Given the description of an element on the screen output the (x, y) to click on. 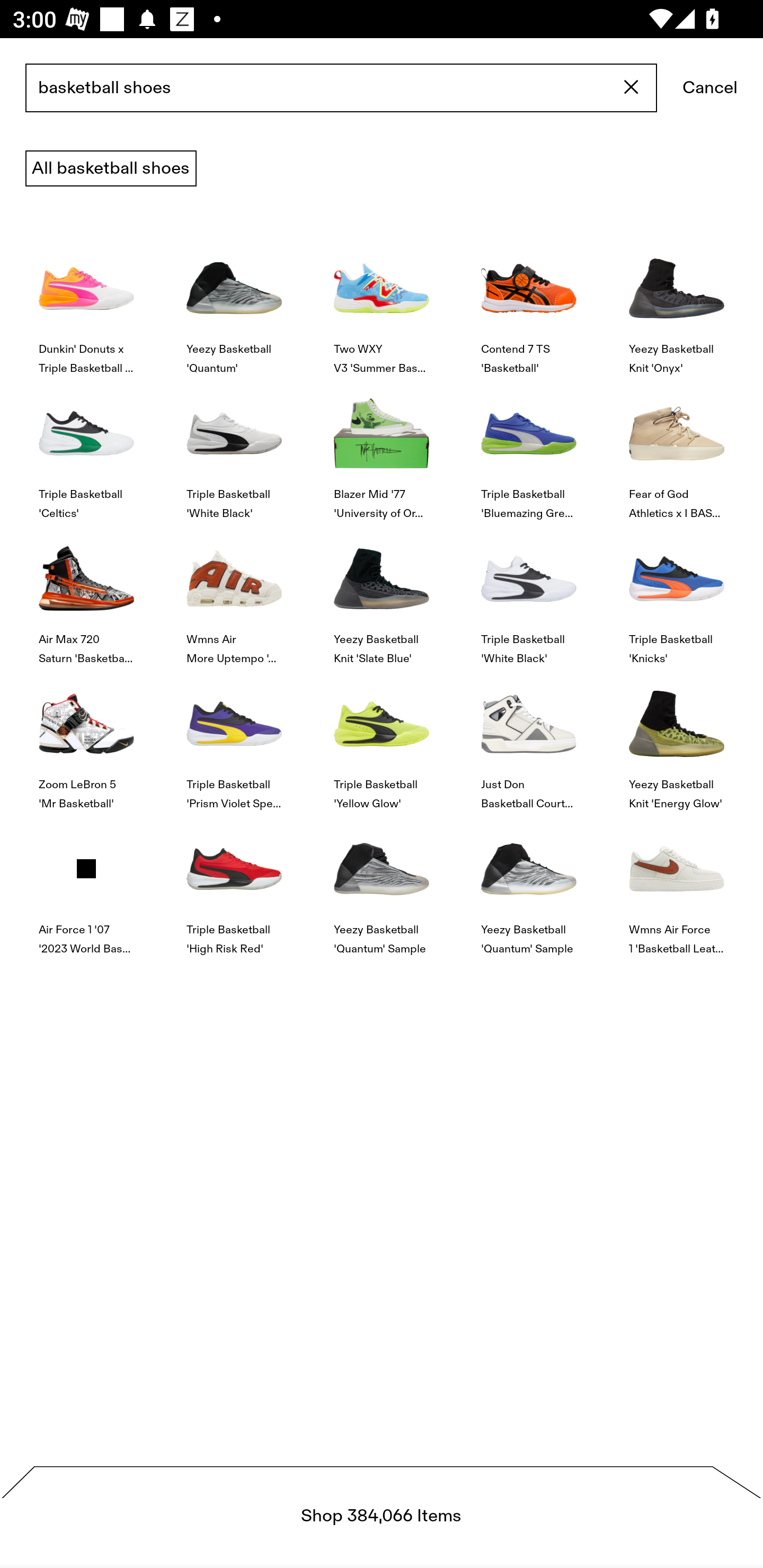
basketball shoes (340, 88)
Cancel (709, 88)
Clear text (631, 87)
All basketball shoes (110, 168)
Yeezy Basketball 'Quantum' (233, 303)
Two WXY V3 'Summer Basketball' (381, 303)
Contend 7 TS 'Basketball' (528, 303)
Yeezy Basketball Knit 'Onyx' (676, 303)
Triple Basketball 'Celtics' (86, 448)
Triple Basketball 'White Black' (233, 448)
Triple Basketball 'Bluemazing Green Glare' (528, 448)
Fear of God Athletics x I BASKETBALL 'Clay' (676, 448)
Air Max 720 Saturn 'Basketball Manga' (86, 593)
Wmns Air More Uptempo 'Basketball Leather' (233, 593)
Yeezy Basketball Knit 'Slate Blue' (381, 593)
Triple Basketball 'White Black' (528, 593)
Triple Basketball 'Knicks' (676, 593)
Zoom LeBron 5 'Mr Basketball' (86, 739)
Triple Basketball 'Prism Violet Spectra Yellow' (233, 739)
Triple Basketball 'Yellow Glow' (381, 739)
Just Don Basketball Courtside Hi 'White Grey' (528, 739)
Yeezy Basketball Knit 'Energy Glow' (676, 739)
Air Force 1 '07 '2023 World Basketball Festival' (86, 884)
Triple Basketball 'High Risk Red' (233, 884)
Yeezy Basketball 'Quantum' Sample (381, 884)
Yeezy Basketball 'Quantum' Sample (528, 884)
Wmns Air Force 1 'Basketball Leather' (676, 884)
Shop 384,066 Items (381, 1517)
